Given the description of an element on the screen output the (x, y) to click on. 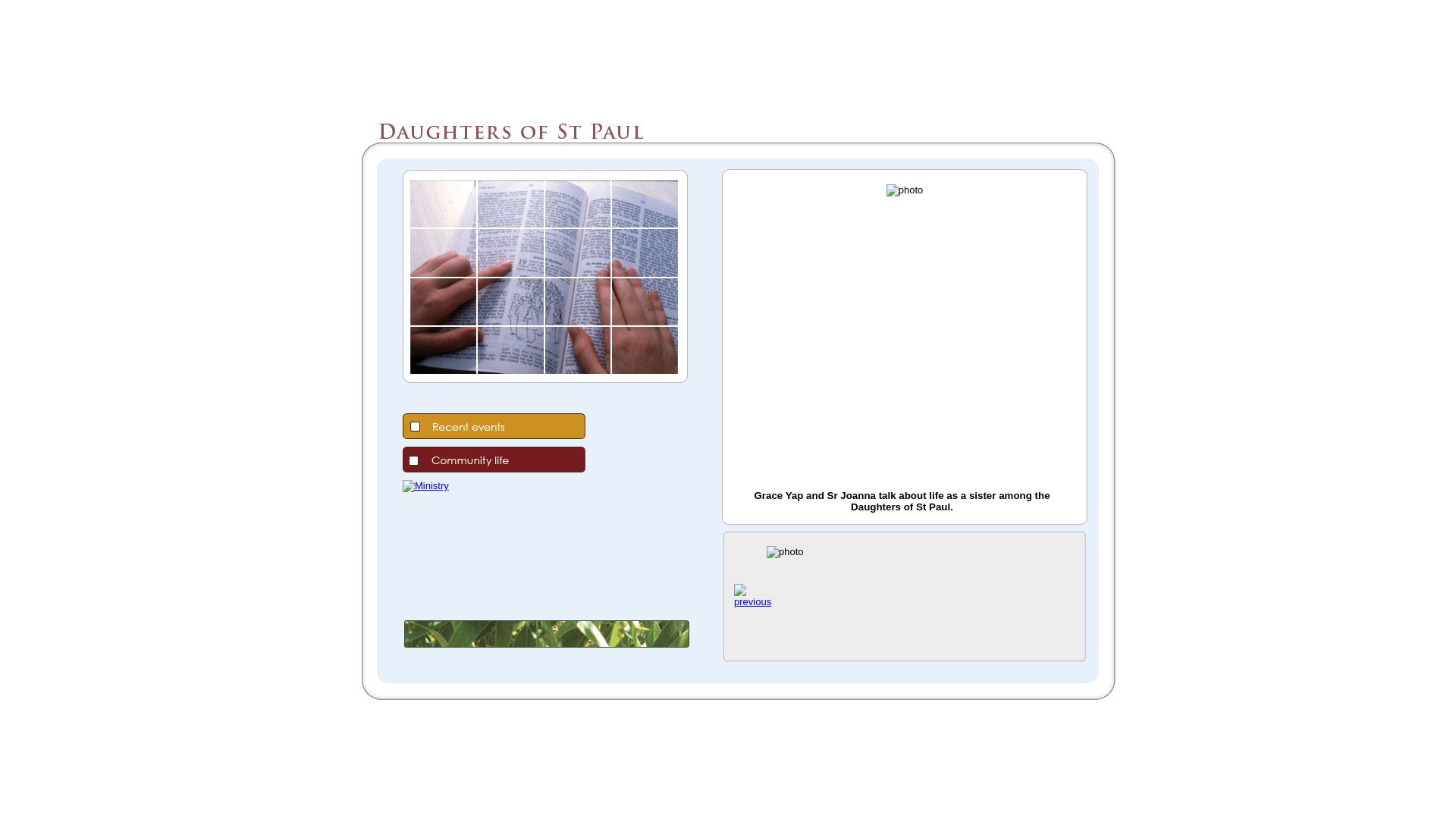
Previous Set Element type: hover (752, 601)
